Given the description of an element on the screen output the (x, y) to click on. 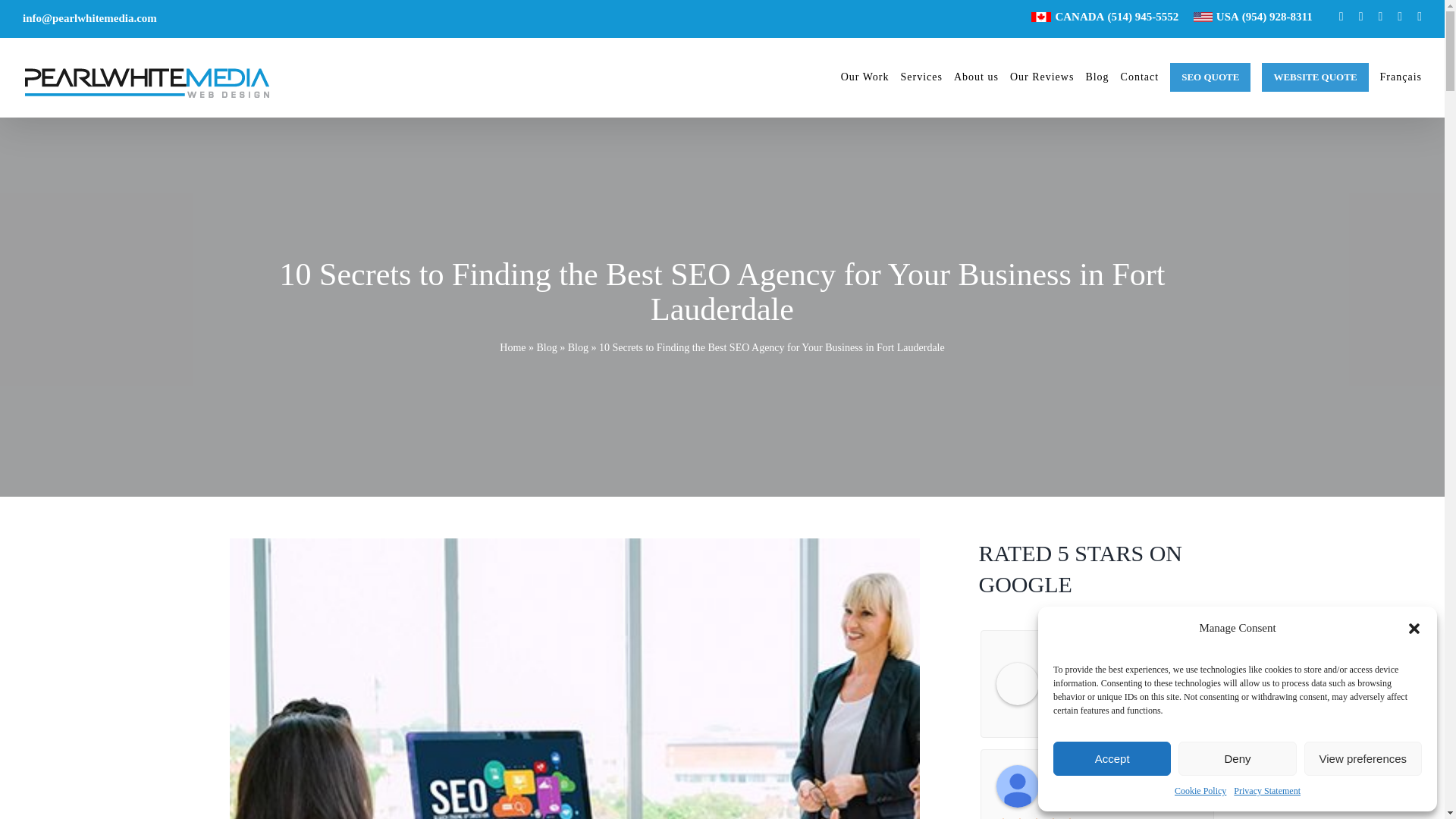
Cookie Policy (1199, 791)
Nikki Devereux (1122, 777)
Pearl White Media (1017, 683)
Accept (1111, 758)
Services (920, 77)
LinkedIn (1399, 16)
Facebook (1341, 16)
Nikki Devereux (1017, 785)
Our Work (865, 77)
Instagram (1379, 16)
YouTube (1419, 16)
View preferences (1363, 758)
Deny (1236, 758)
X (1360, 16)
Privacy Statement (1266, 791)
